Given the description of an element on the screen output the (x, y) to click on. 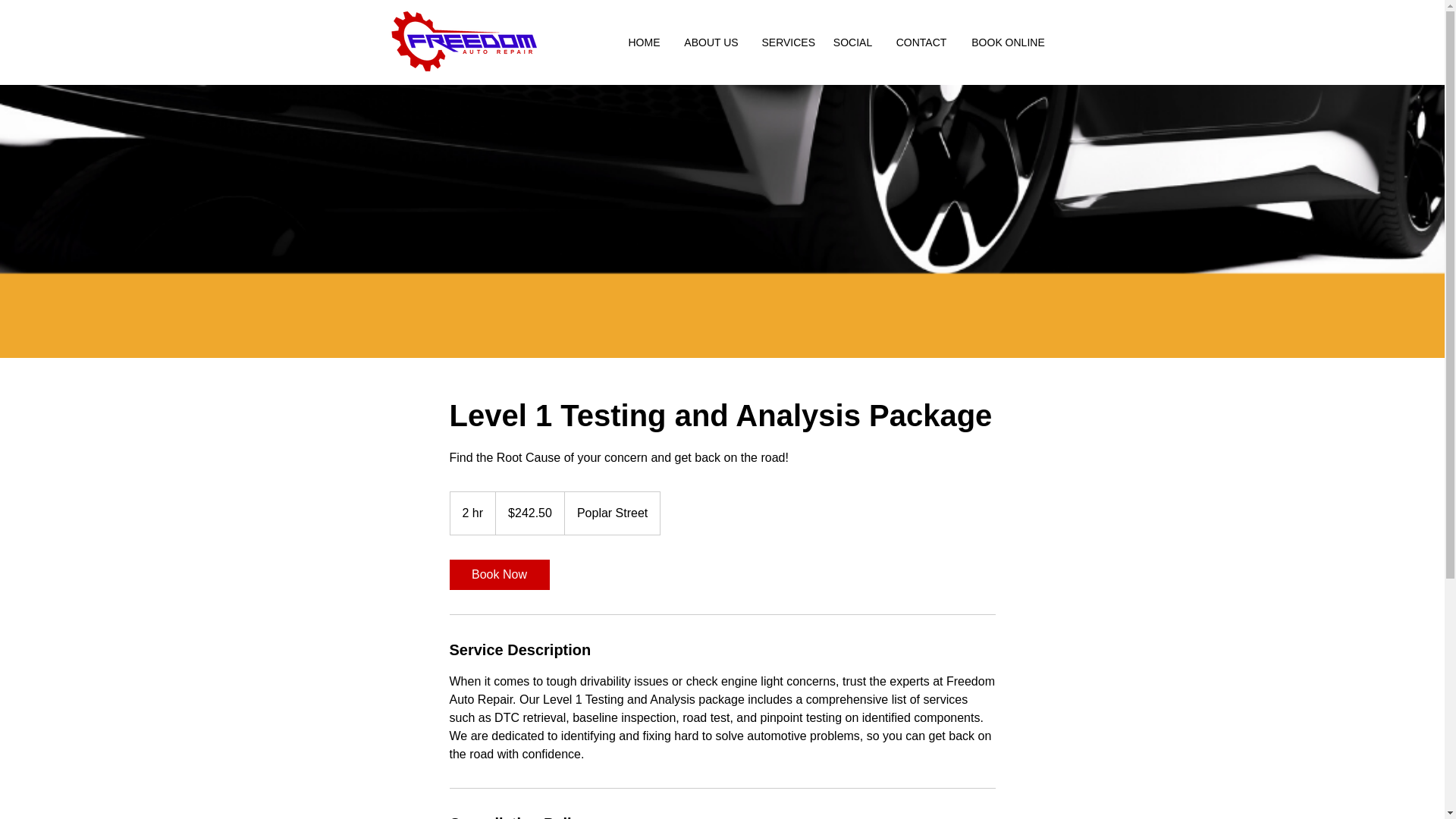
Book Now (498, 574)
SERVICES (786, 42)
ABOUT US (710, 42)
SOCIAL (852, 42)
HOME (643, 42)
BOOK ONLINE (1007, 42)
